Given the description of an element on the screen output the (x, y) to click on. 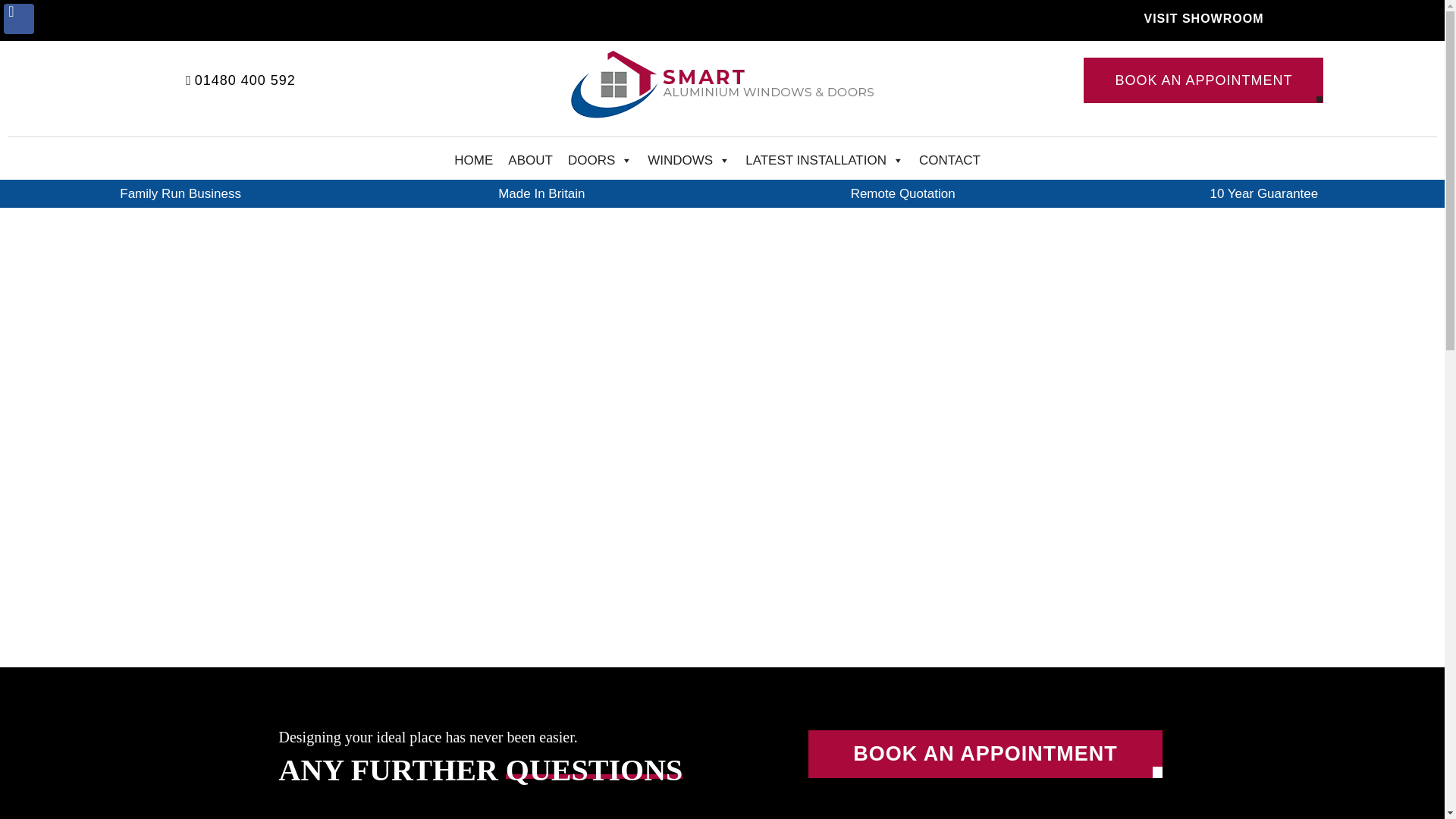
WINDOWS (689, 160)
CONTACT (949, 160)
DOORS (600, 160)
LATEST INSTALLATION (824, 160)
ABOUT (530, 160)
01480 400 592 (240, 80)
HOME (473, 160)
BOOK AN APPOINTMENT (1203, 80)
VISIT SHOWROOM (1204, 19)
